Given the description of an element on the screen output the (x, y) to click on. 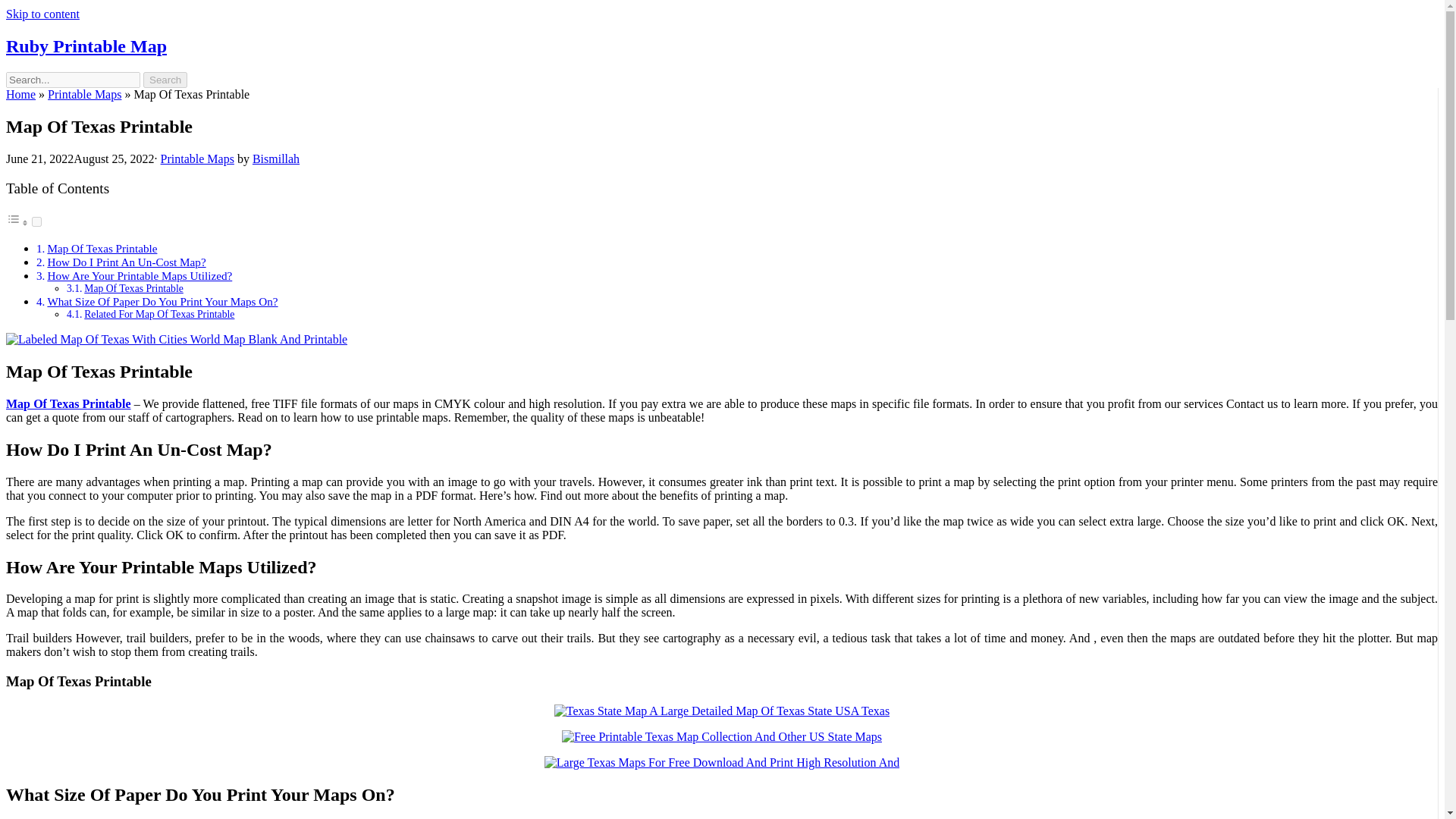
free printable texas map collection and other us state maps (722, 736)
Search (164, 79)
Search for: (72, 79)
Map Of Texas Printable (101, 247)
How Do I Print An Un-Cost Map? (125, 261)
on (37, 221)
What Size Of Paper Do You Print Your Maps On? (162, 300)
How Do I Print An Un-Cost Map? (125, 261)
Printable Maps (197, 158)
Map Of Texas Printable (133, 288)
